Given the description of an element on the screen output the (x, y) to click on. 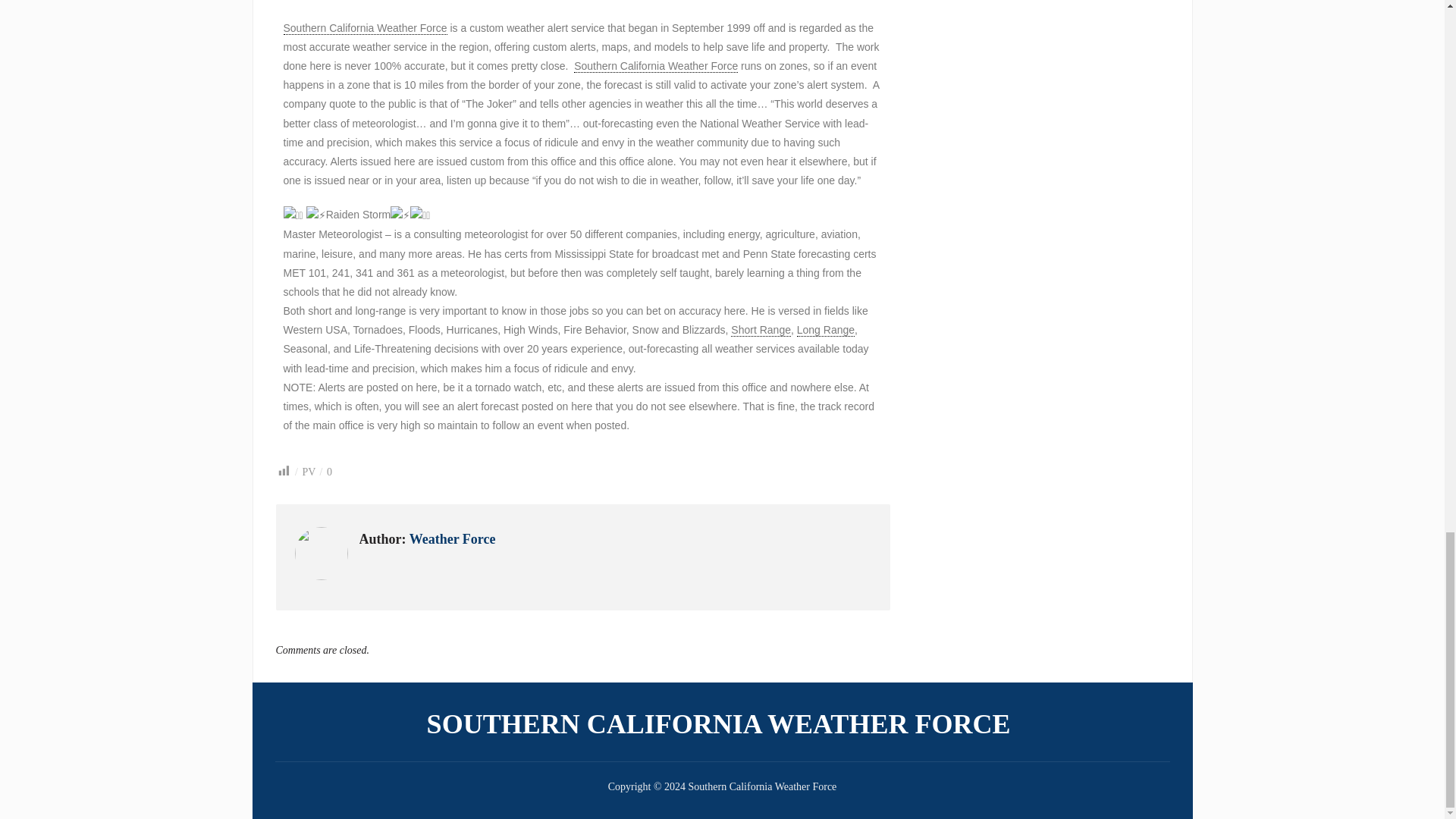
A forecast of less than 2 days out. (760, 329)
Weather Force (452, 539)
Southern California's Most Accurate Weather Service Office. (655, 65)
SOUTHERN CALIFORNIA WEATHER FORCE (721, 723)
A forecast 10 or more days out. (825, 329)
Southern California's Most Accurate Weather Service Office. (364, 28)
